Given the description of an element on the screen output the (x, y) to click on. 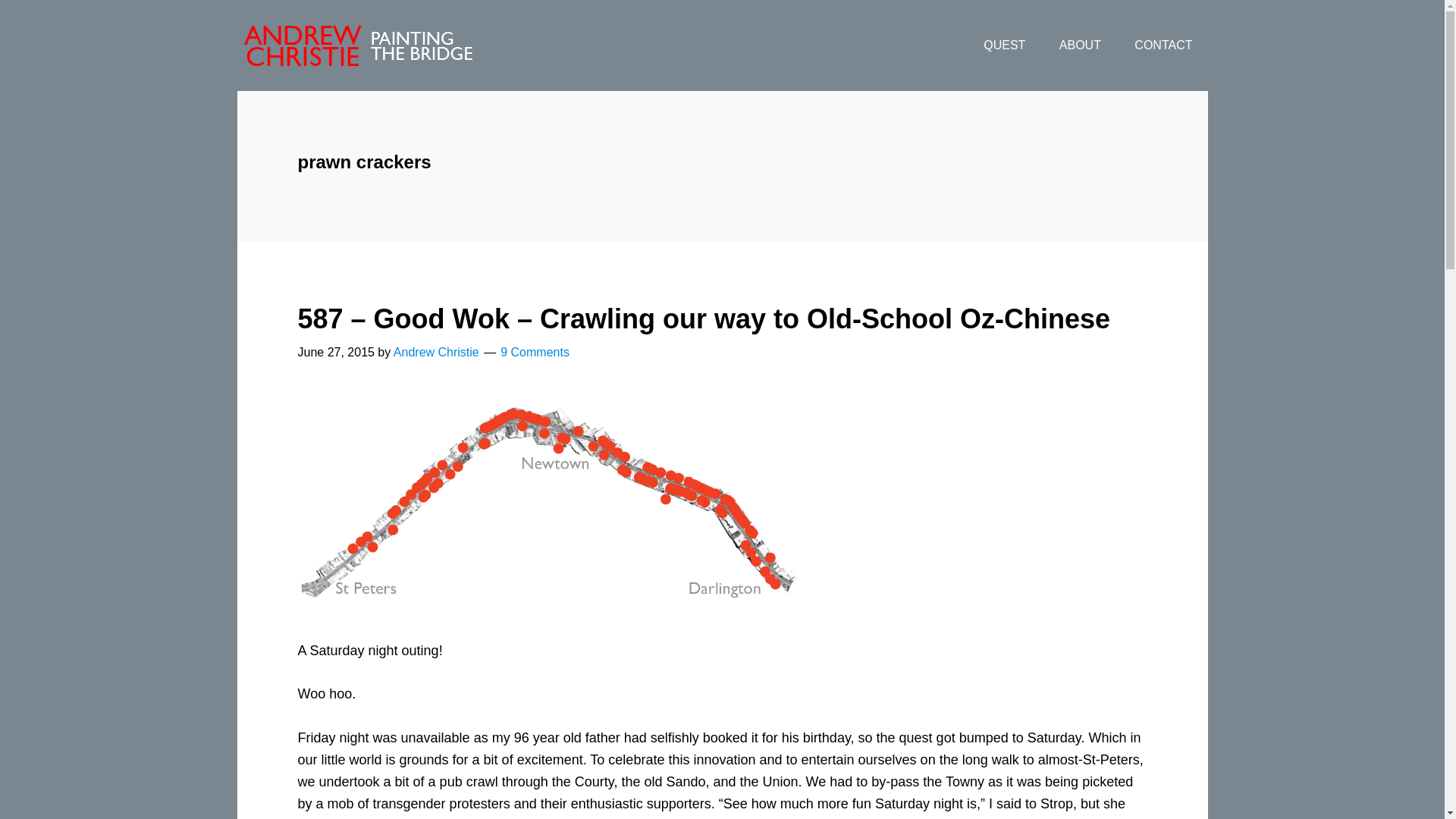
Andrew Christie (436, 351)
9 Comments (534, 351)
Painting the Bridge (357, 45)
CONTACT (1163, 45)
